Given the description of an element on the screen output the (x, y) to click on. 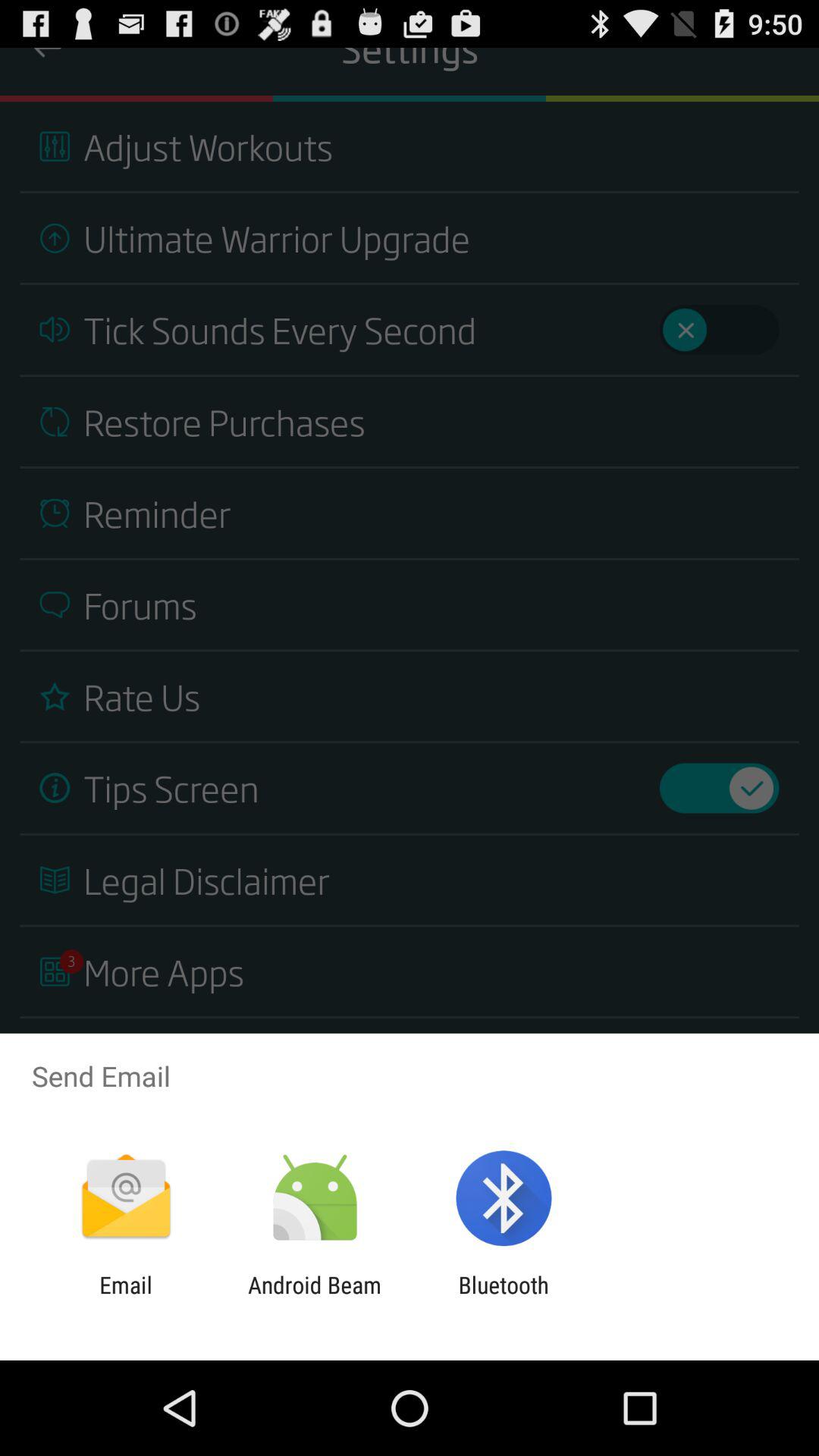
press icon next to bluetooth app (314, 1298)
